Given the description of an element on the screen output the (x, y) to click on. 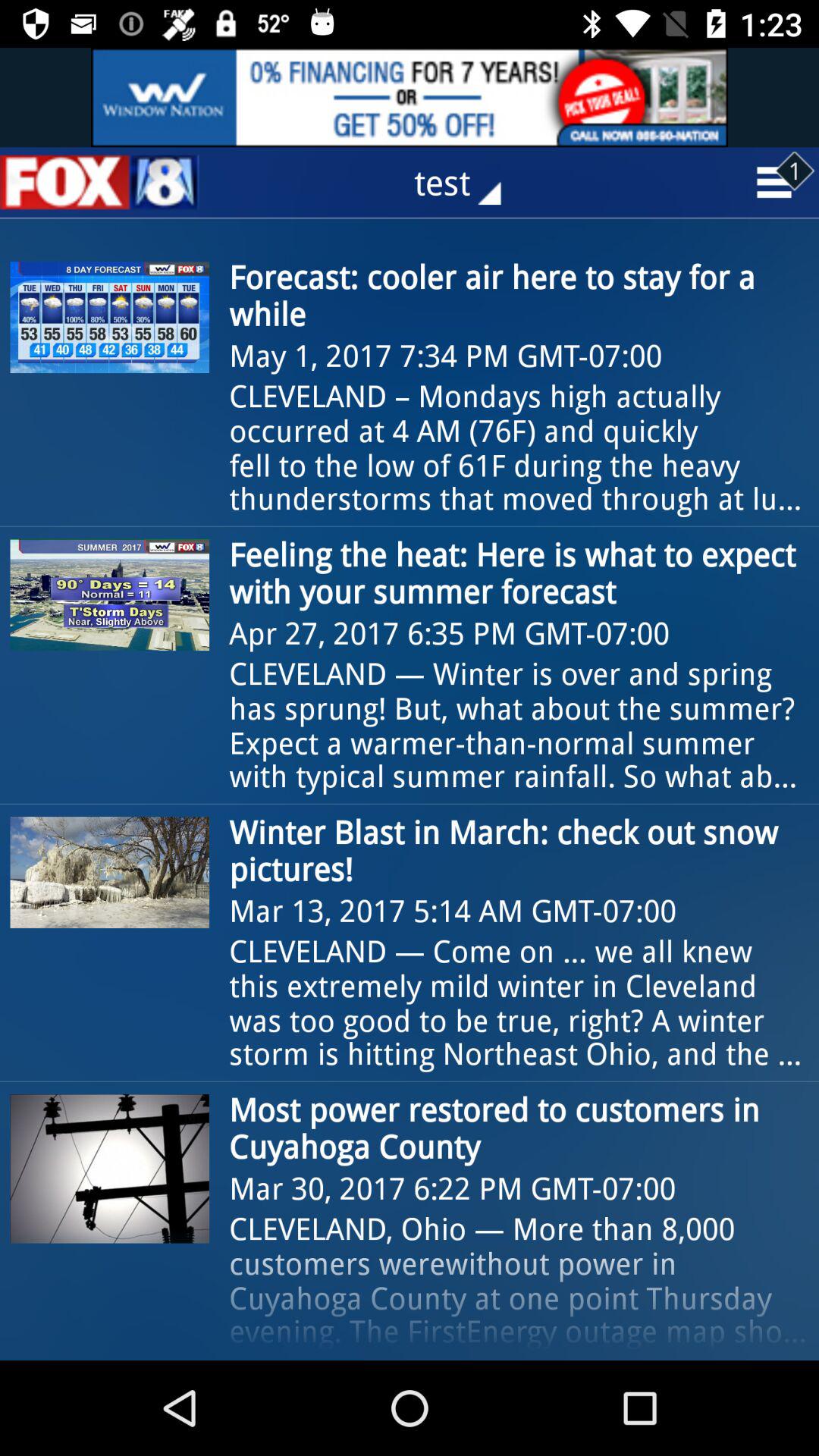
flip until the test icon (468, 182)
